Given the description of an element on the screen output the (x, y) to click on. 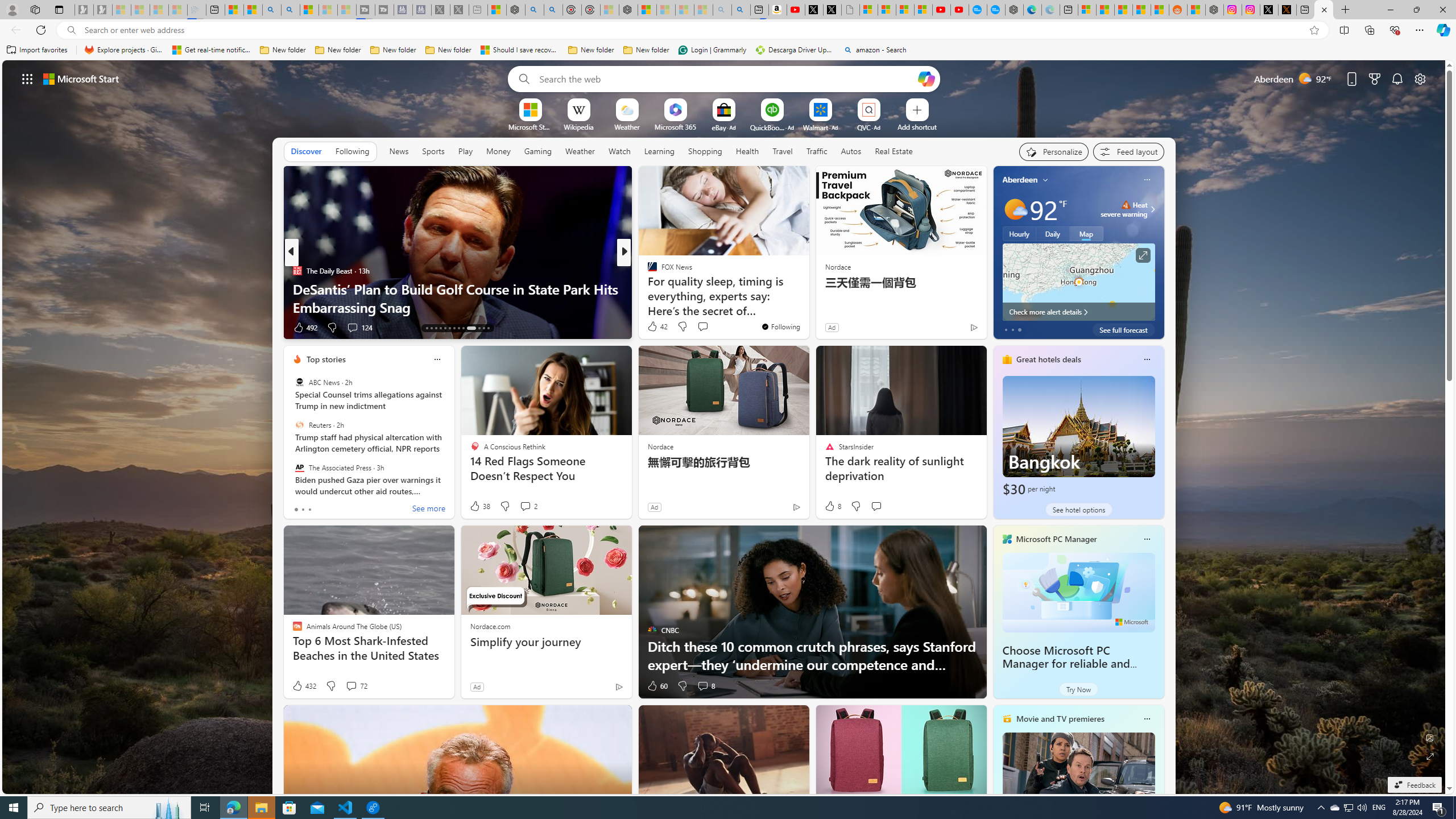
Autos (851, 151)
Microsoft start (81, 78)
tab-0 (295, 509)
Login | Grammarly (712, 49)
tab-2 (309, 509)
Autos (850, 151)
amazon - Search - Sleeping (721, 9)
Day 1: Arriving in Yemen (surreal to be here) - YouTube (795, 9)
Class: control (27, 78)
Gaming (537, 151)
ABC News (299, 382)
